Given the description of an element on the screen output the (x, y) to click on. 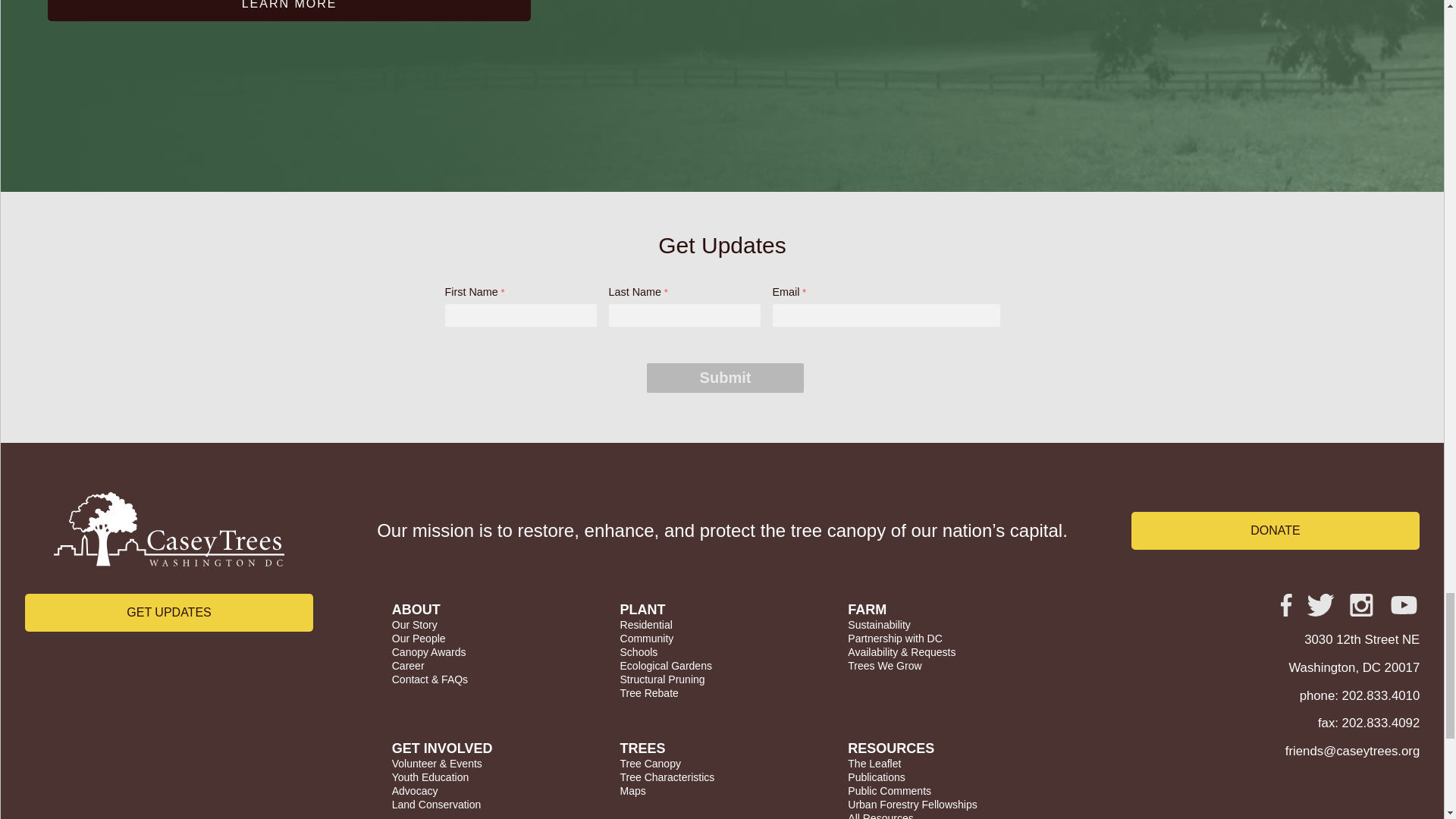
Submit (725, 378)
Last Name (684, 314)
First Name (519, 314)
Email (884, 314)
